Given the description of an element on the screen output the (x, y) to click on. 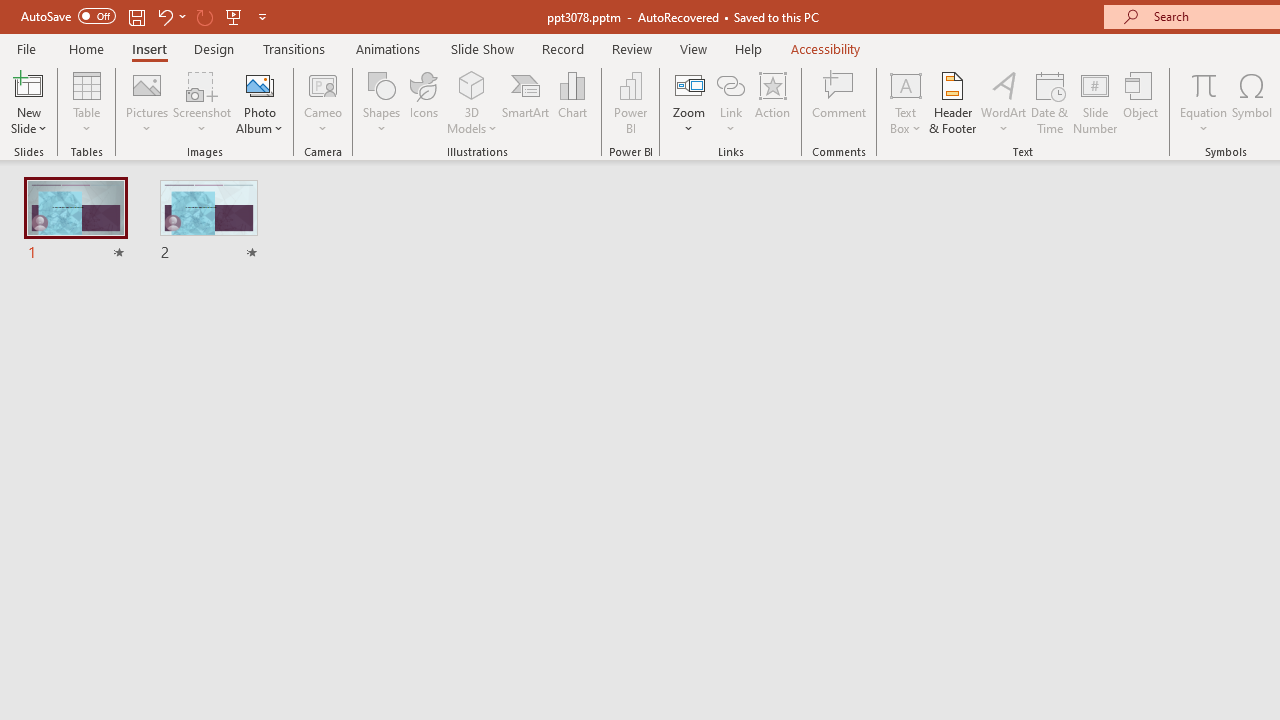
Comment (839, 102)
Icons (424, 102)
Action (772, 102)
